Given the description of an element on the screen output the (x, y) to click on. 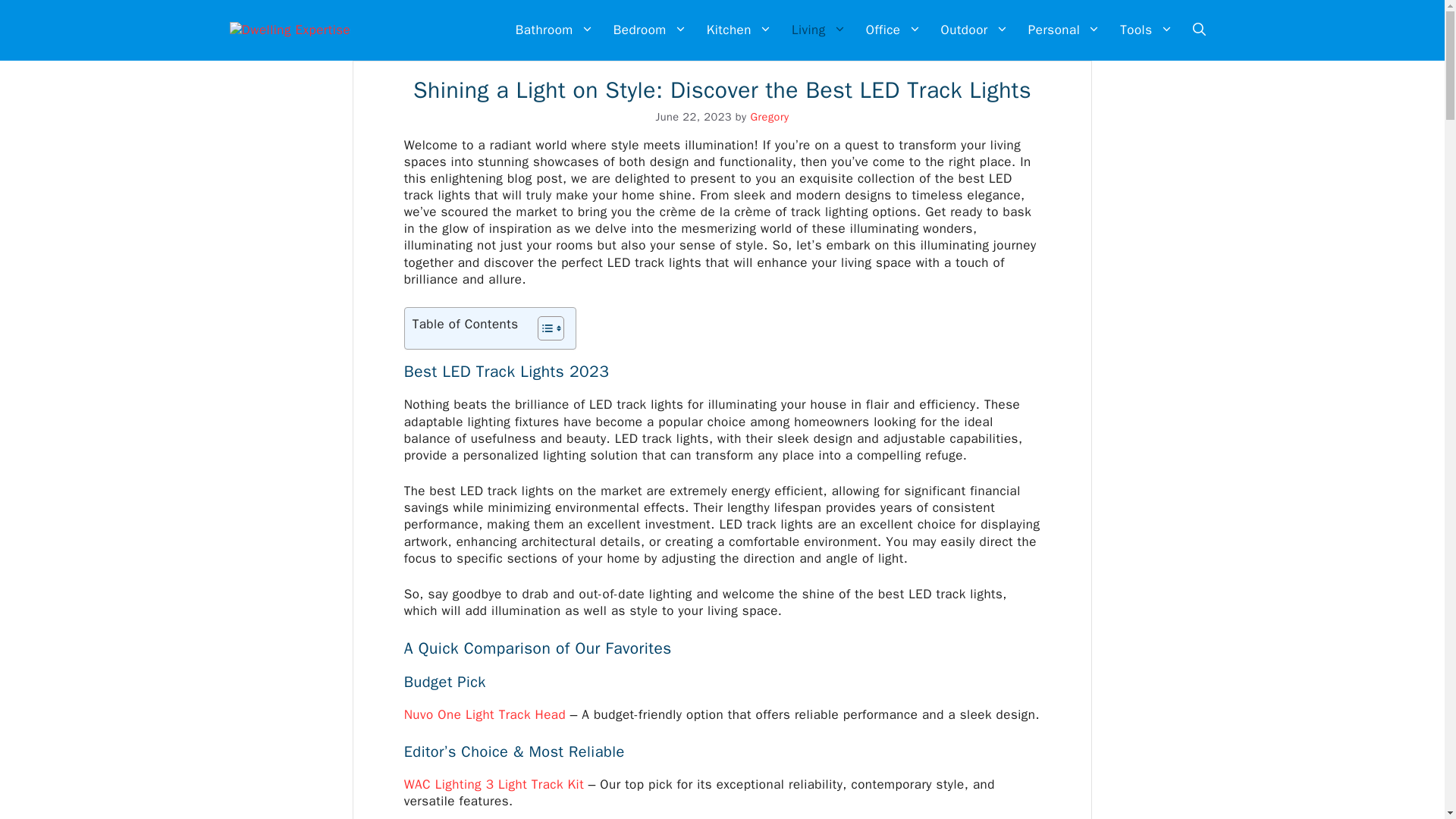
Bathroom (554, 30)
Office (893, 30)
Bedroom (650, 30)
Kitchen (739, 30)
Outdoor (974, 30)
View all posts by Gregory (769, 116)
Living (818, 30)
